Given the description of an element on the screen output the (x, y) to click on. 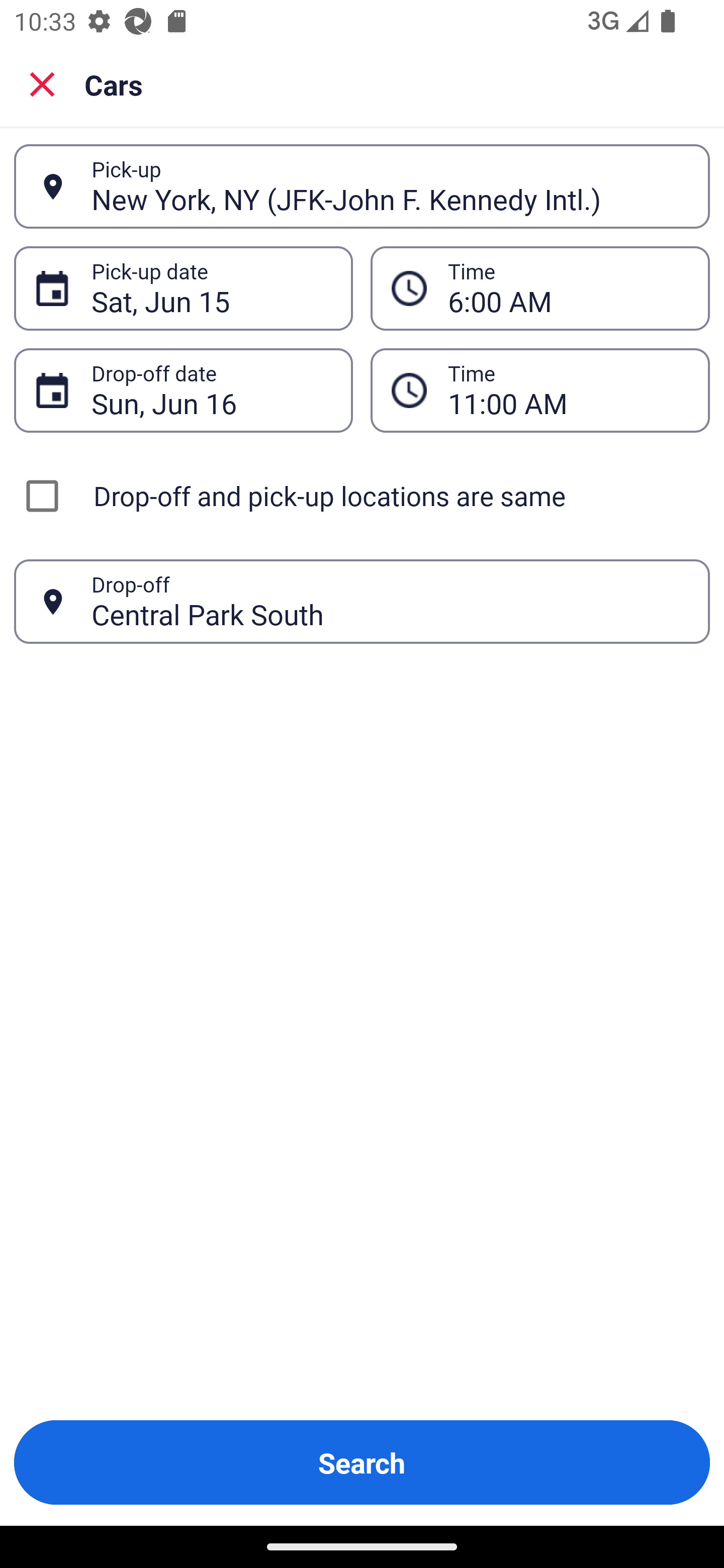
Close search screen (41, 83)
New York, NY (JFK-John F. Kennedy Intl.) Pick-up (361, 186)
New York, NY (JFK-John F. Kennedy Intl.) (389, 186)
Sat, Jun 15 Pick-up date (183, 288)
6:00 AM (540, 288)
Sat, Jun 15 (211, 288)
6:00 AM (568, 288)
Sun, Jun 16 Drop-off date (183, 390)
11:00 AM (540, 390)
Sun, Jun 16 (211, 390)
11:00 AM (568, 390)
Drop-off and pick-up locations are same (361, 495)
Central Park South Drop-off (361, 601)
Central Park South (389, 601)
Search Button Search (361, 1462)
